Given the description of an element on the screen output the (x, y) to click on. 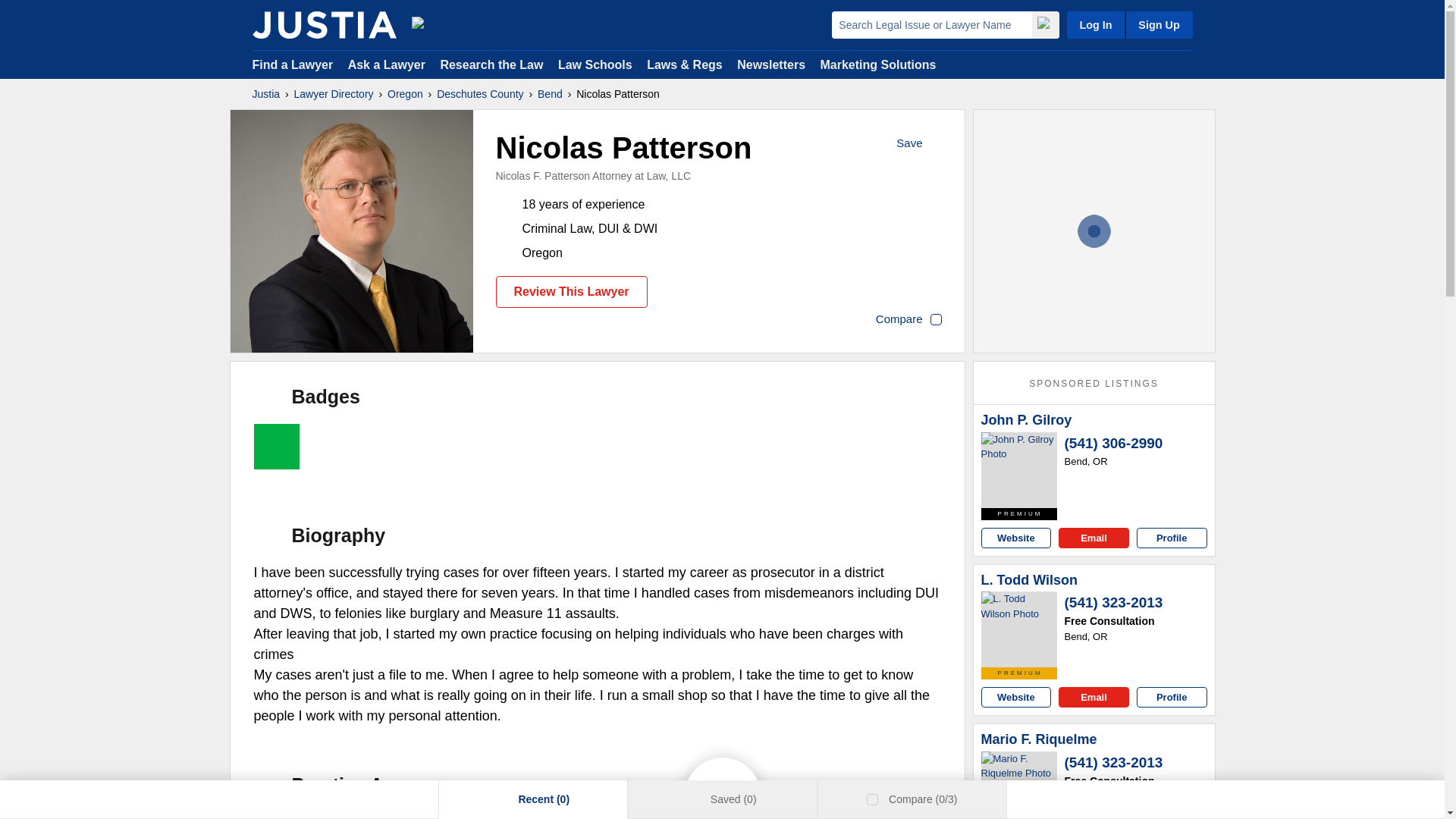
Lawyer Directory (334, 93)
Research the Law (491, 64)
Search (1044, 24)
Oregon (405, 93)
Nicolas Patterson (351, 230)
Marketing Solutions (877, 64)
Justia Lawyer Directory (323, 24)
Find a Lawyer (292, 64)
John P. Gilroy (1026, 420)
Newsletters (770, 64)
Compare (909, 319)
Deschutes County (479, 93)
Law Schools (594, 64)
John P. Gilroy (1026, 420)
Review This Lawyer (571, 291)
